Given the description of an element on the screen output the (x, y) to click on. 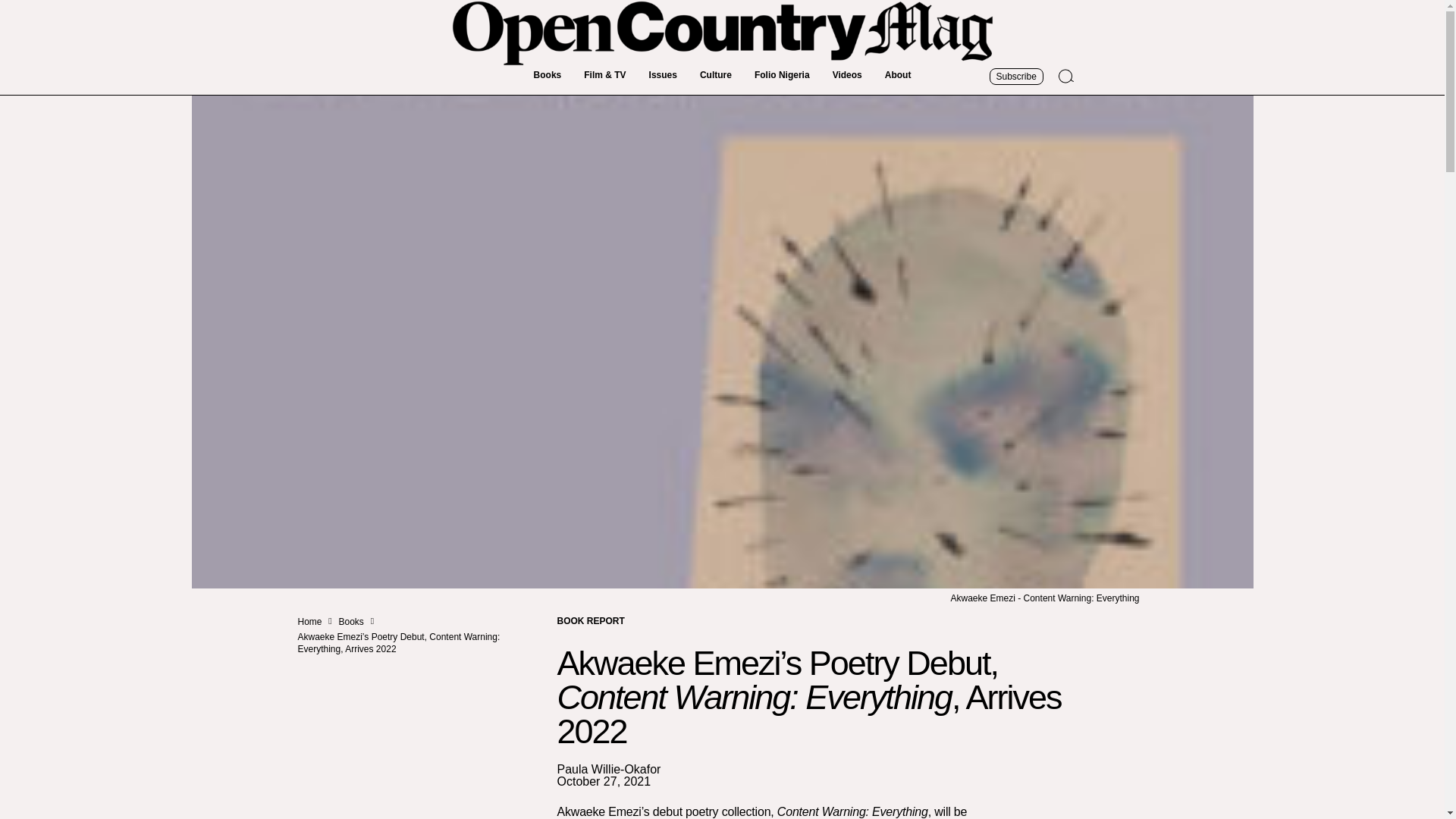
BOOK REPORT (590, 620)
Home (309, 621)
Culture (716, 74)
About (898, 74)
Videos (846, 74)
Books (548, 74)
Issues (663, 74)
Books (351, 621)
Folio Nigeria (781, 74)
Subscribe (1015, 76)
Books (351, 621)
Home (309, 621)
